Given the description of an element on the screen output the (x, y) to click on. 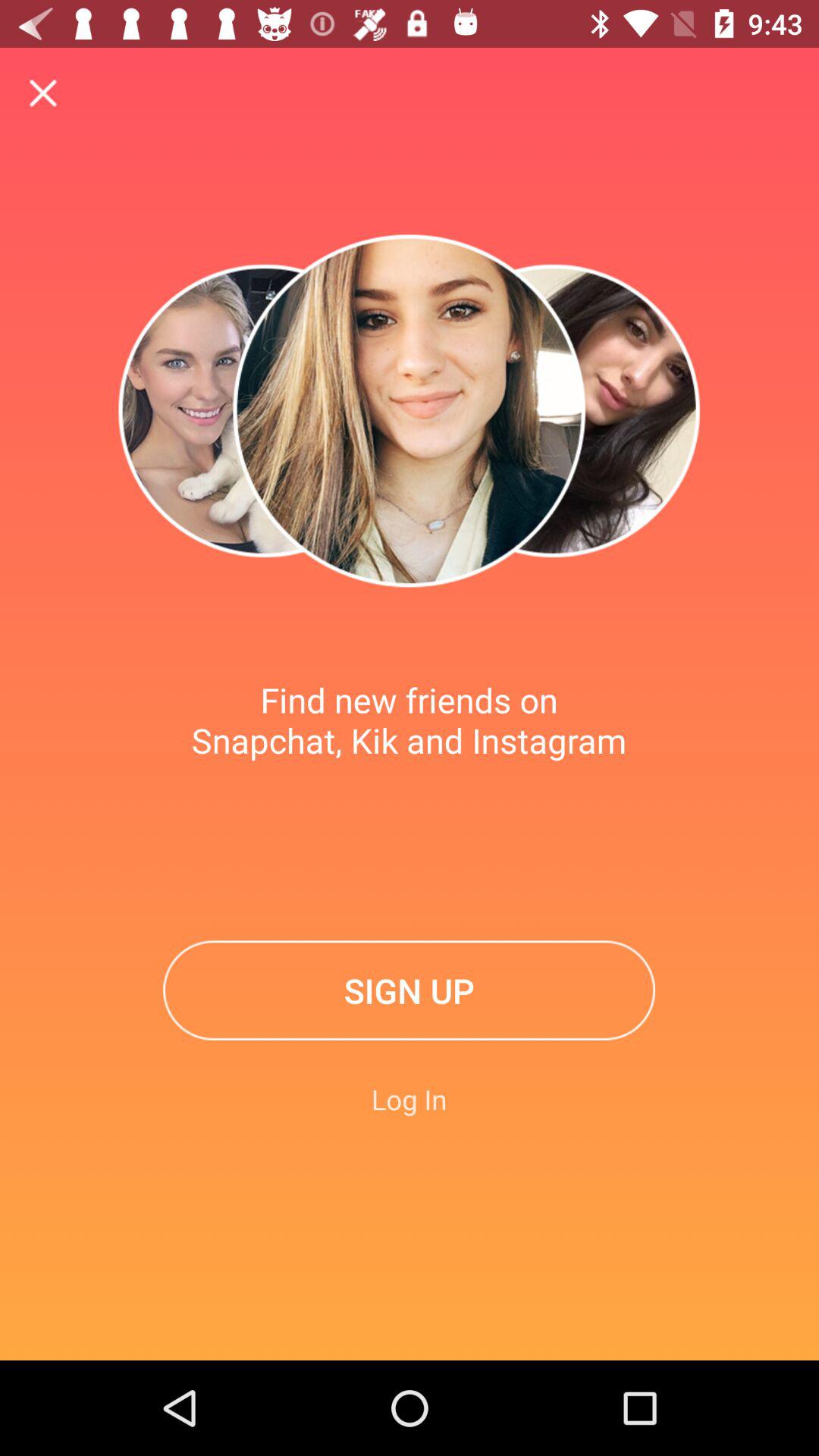
launch the icon above log in item (409, 990)
